Given the description of an element on the screen output the (x, y) to click on. 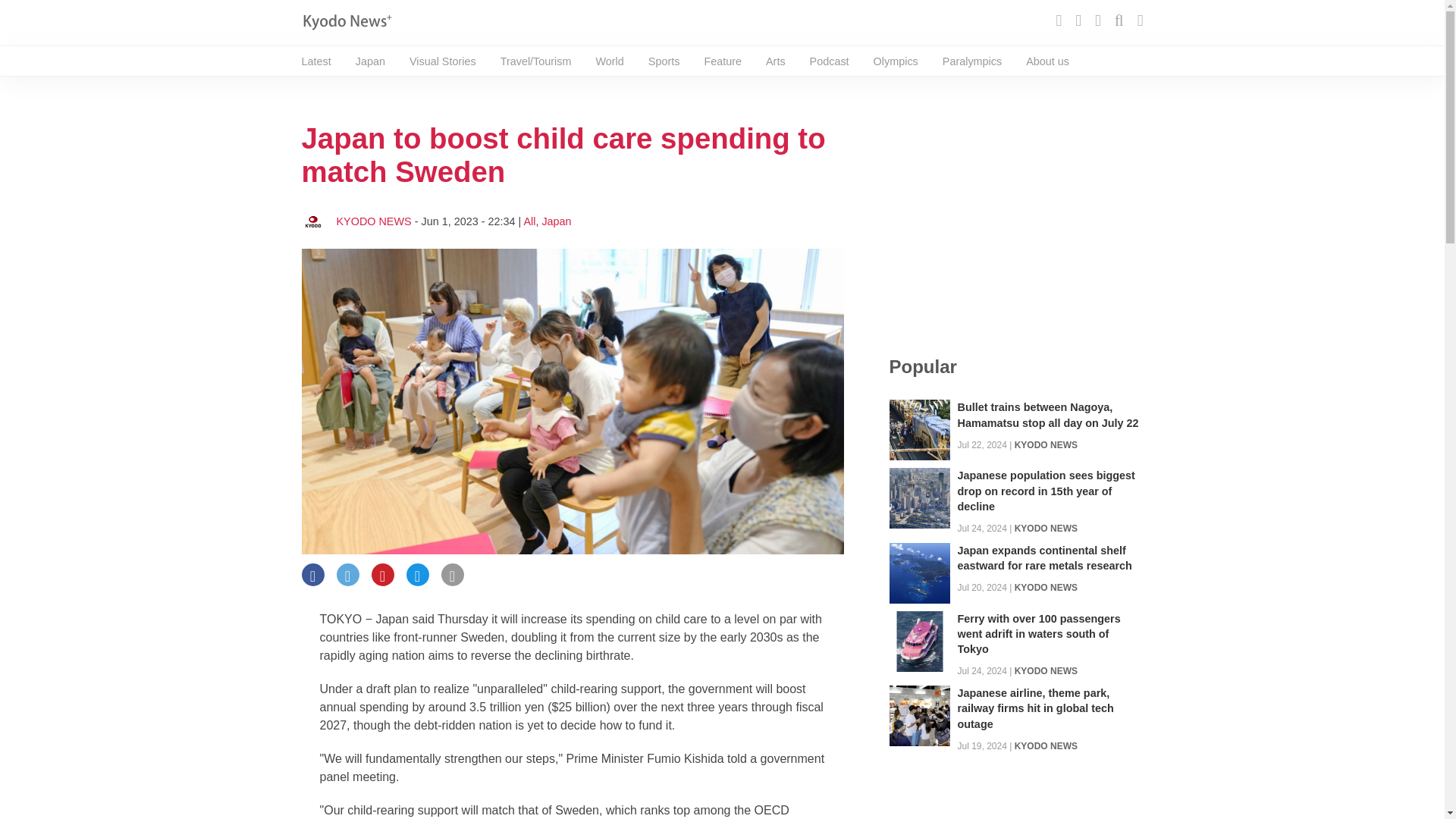
Podcast (828, 61)
About us (1047, 61)
Sports (663, 61)
Paralympics (971, 61)
Visual Stories (442, 61)
Latest (316, 61)
Japan (555, 221)
KYODO NEWS (374, 221)
KYODO NEWS (1045, 444)
Olympics (895, 61)
Feature (722, 61)
All (528, 221)
Japan (370, 61)
Advertisement (1015, 217)
